Given the description of an element on the screen output the (x, y) to click on. 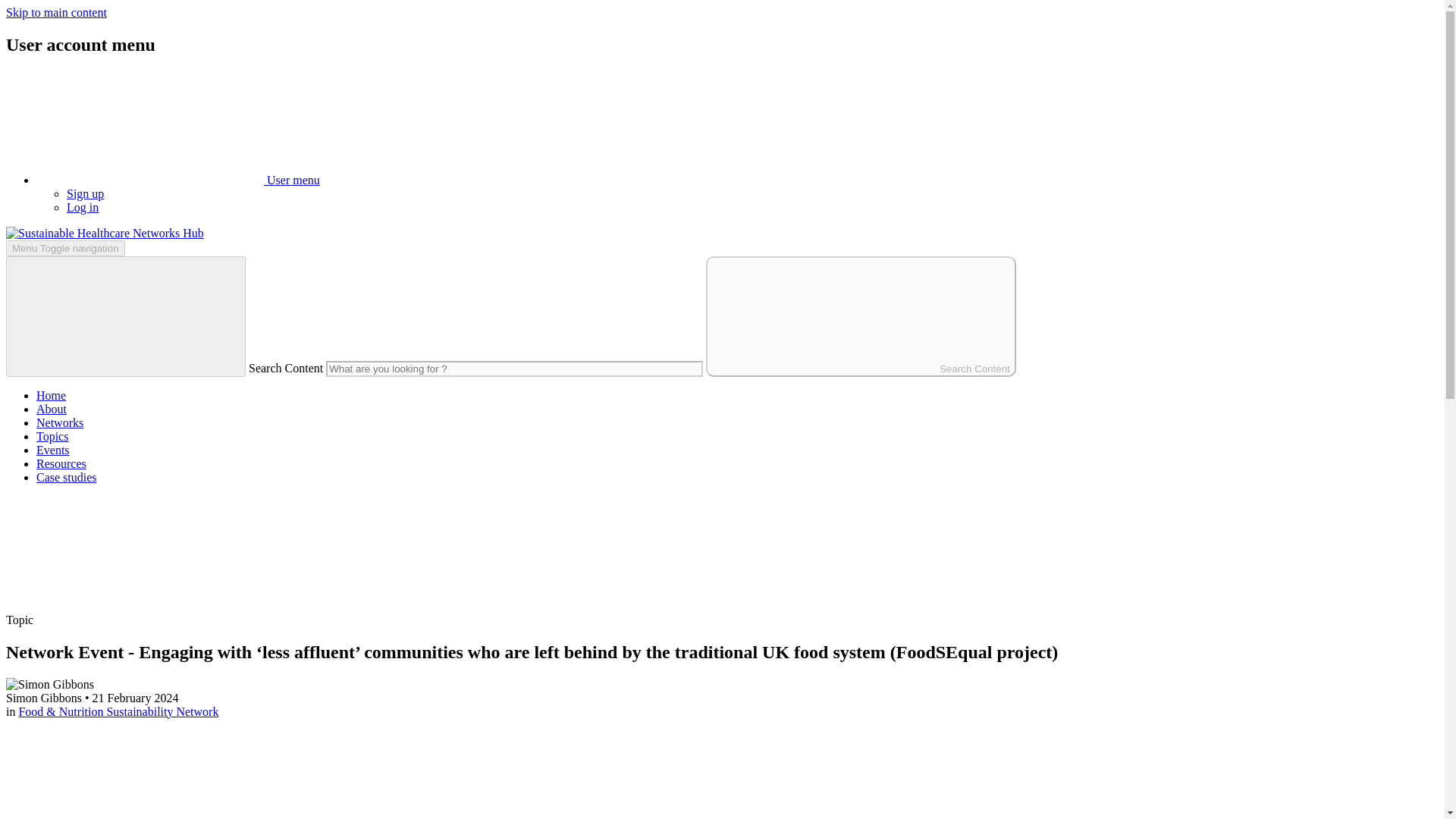
Close search window (125, 316)
Events (52, 449)
Search Content (861, 316)
Search (118, 553)
Home (104, 232)
Close search window (125, 316)
Click to open search box (118, 605)
Resources (60, 463)
User menu (149, 127)
User menu (178, 179)
